Given the description of an element on the screen output the (x, y) to click on. 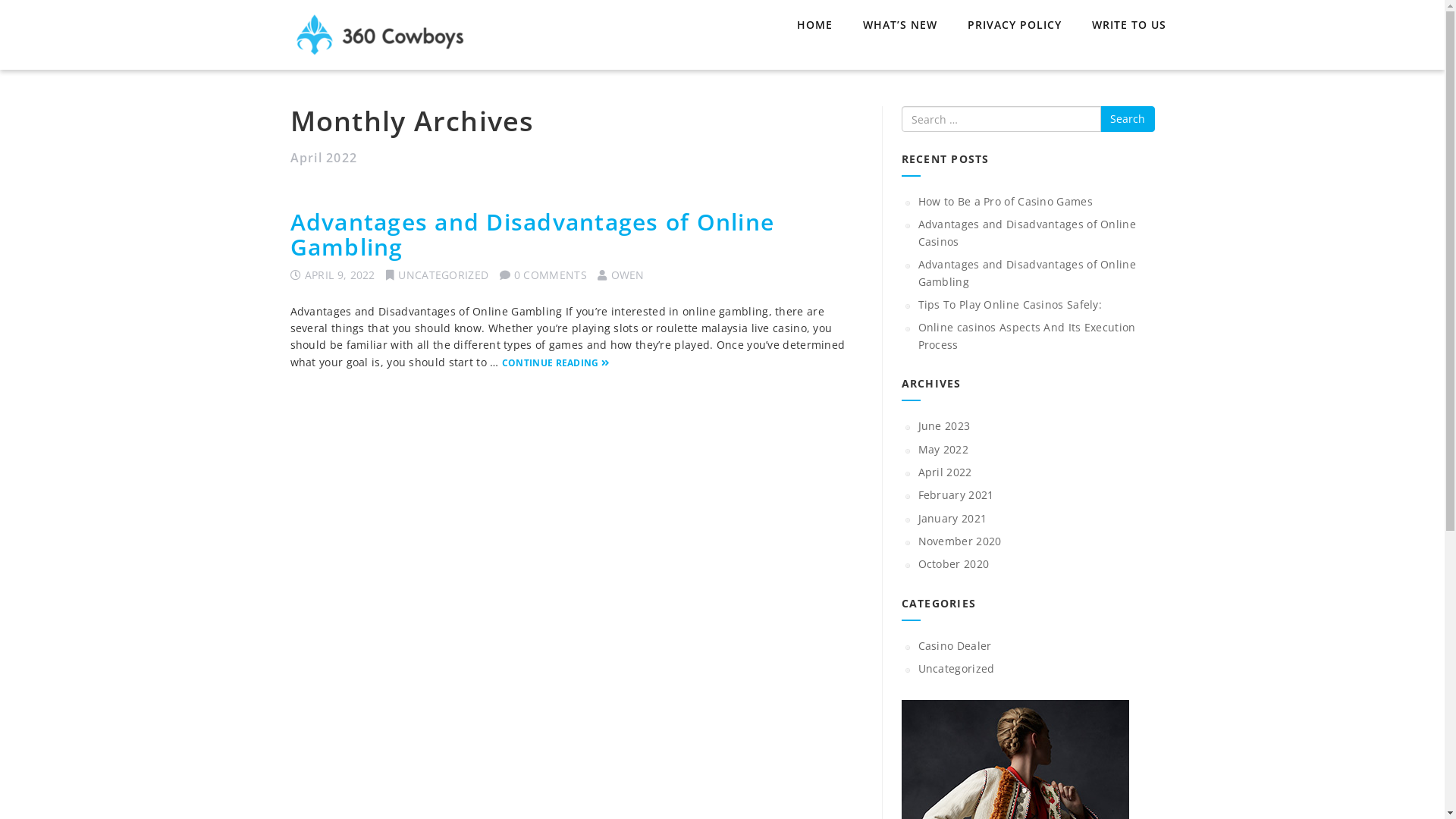
January 2021 Element type: text (951, 518)
Uncategorized Element type: text (955, 668)
November 2020 Element type: text (959, 540)
Advantages and Disadvantages of Online Casinos Element type: text (1026, 231)
Search Element type: text (1126, 118)
October 2020 Element type: text (952, 563)
How to Be a Pro of Casino Games Element type: text (1004, 201)
UNCATEGORIZED Element type: text (443, 274)
WRITE TO US Element type: text (1129, 25)
Tips To Play Online Casinos Safely: Element type: text (1009, 304)
June 2023 Element type: text (943, 425)
PRIVACY POLICY Element type: text (1014, 25)
Advantages and Disadvantages of Online Gambling Element type: text (1026, 272)
CONTINUE READING Element type: text (555, 362)
Online casinos Aspects And Its Execution Process Element type: text (1026, 335)
OWEN Element type: text (627, 274)
Casino Dealer Element type: text (954, 645)
May 2022 Element type: text (942, 449)
April 2022 Element type: text (944, 471)
Advantages and Disadvantages of Online Gambling Element type: text (531, 234)
HOME Element type: text (813, 25)
February 2021 Element type: text (955, 494)
